Given the description of an element on the screen output the (x, y) to click on. 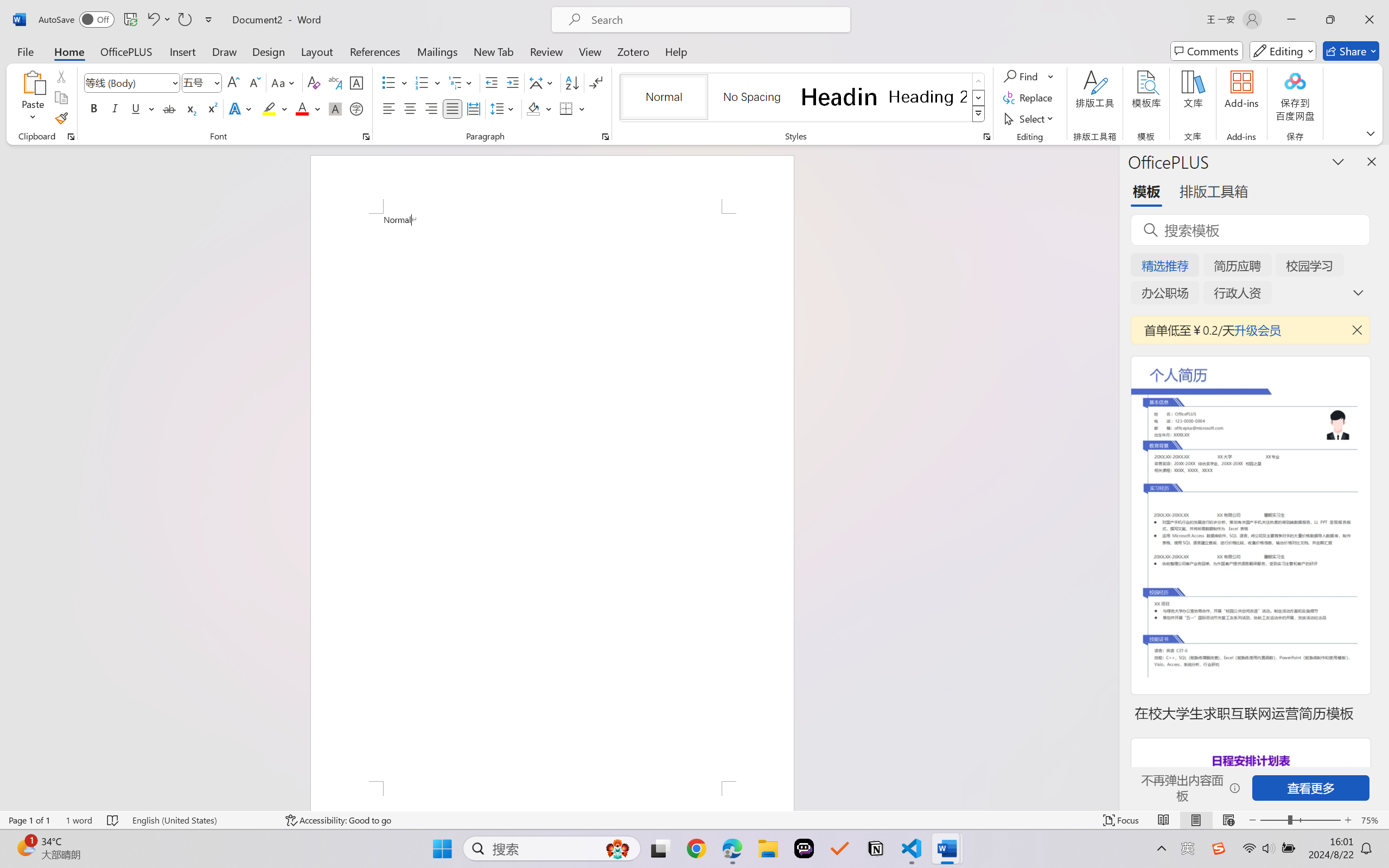
Superscript (210, 108)
Change Case (284, 82)
Show/Hide Editing Marks (595, 82)
Font Size (201, 82)
Font... (365, 136)
Home (69, 51)
Save (130, 19)
Undo Apply Quick Style (152, 19)
Zotero (632, 51)
Bullets (395, 82)
